Given the description of an element on the screen output the (x, y) to click on. 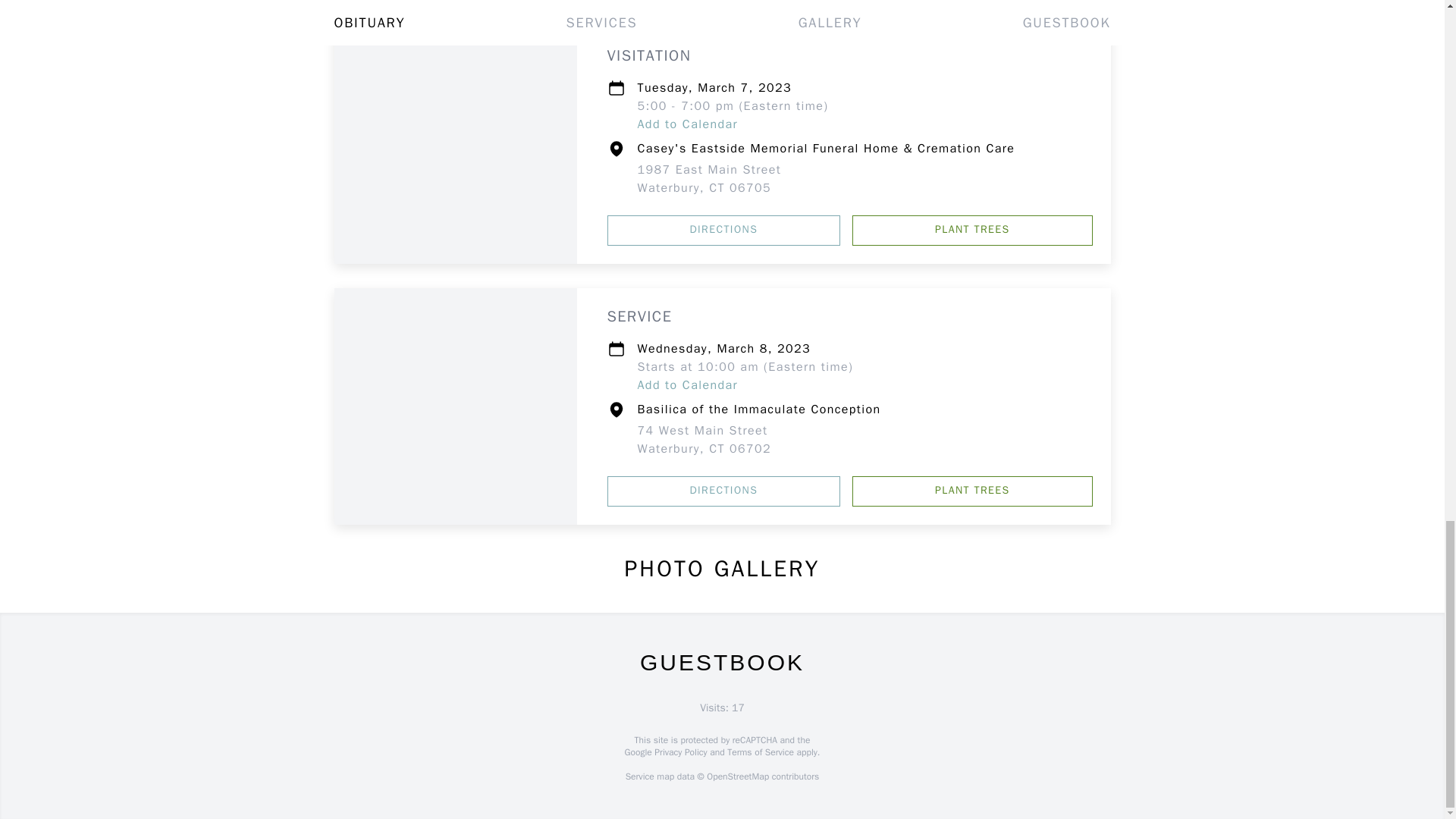
PLANT TREES (704, 439)
PLANT TREES (971, 490)
DIRECTIONS (708, 178)
DIRECTIONS (971, 230)
Add to Calendar (723, 490)
Add to Calendar (723, 230)
